Given the description of an element on the screen output the (x, y) to click on. 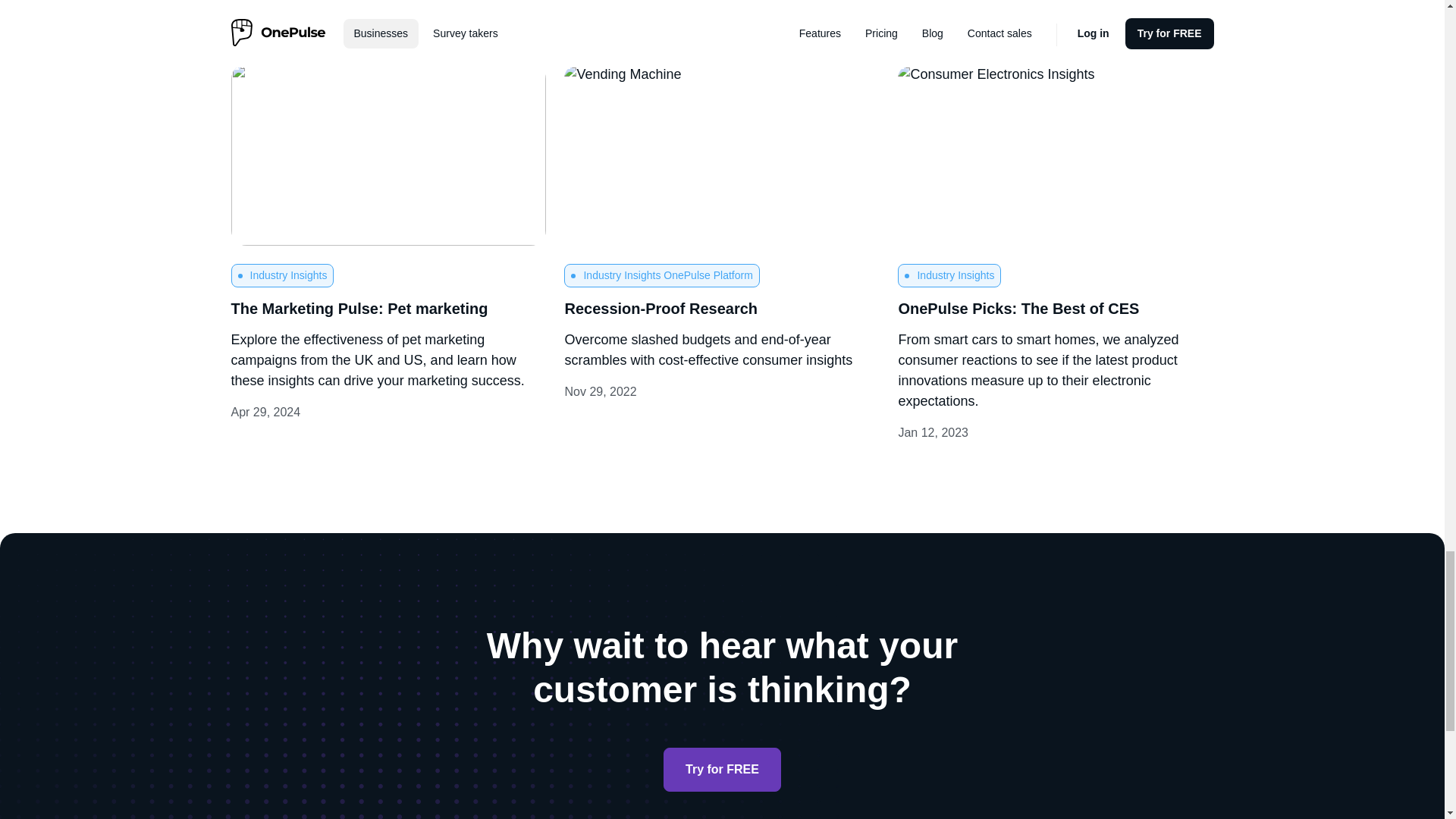
Try for FREE (721, 769)
